Given the description of an element on the screen output the (x, y) to click on. 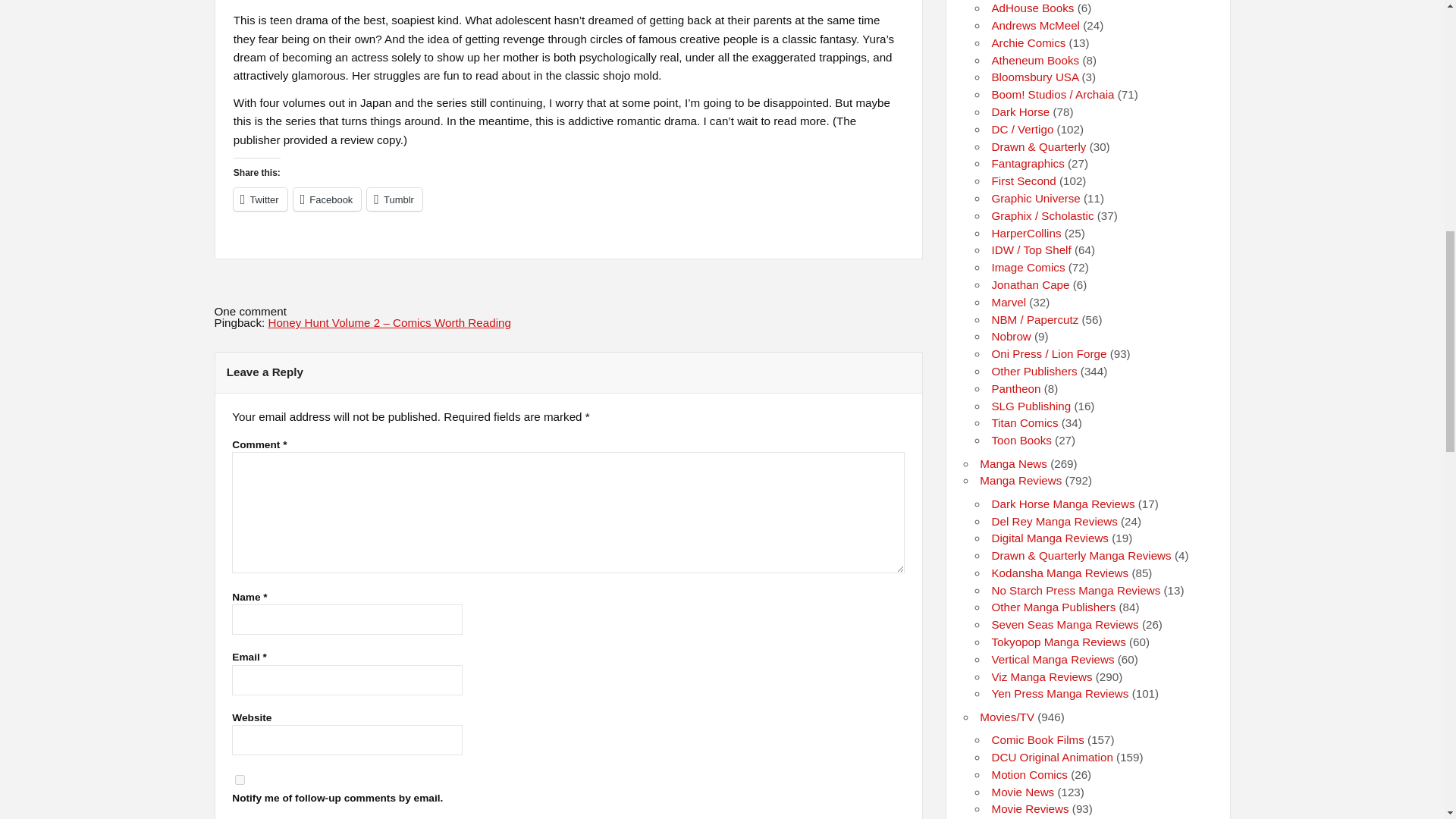
Facebook (327, 199)
subscribe (239, 779)
Click to share on Facebook (327, 199)
Click to share on Tumblr (394, 199)
Tumblr (394, 199)
Twitter (259, 199)
Click to share on Twitter (259, 199)
